Given the description of an element on the screen output the (x, y) to click on. 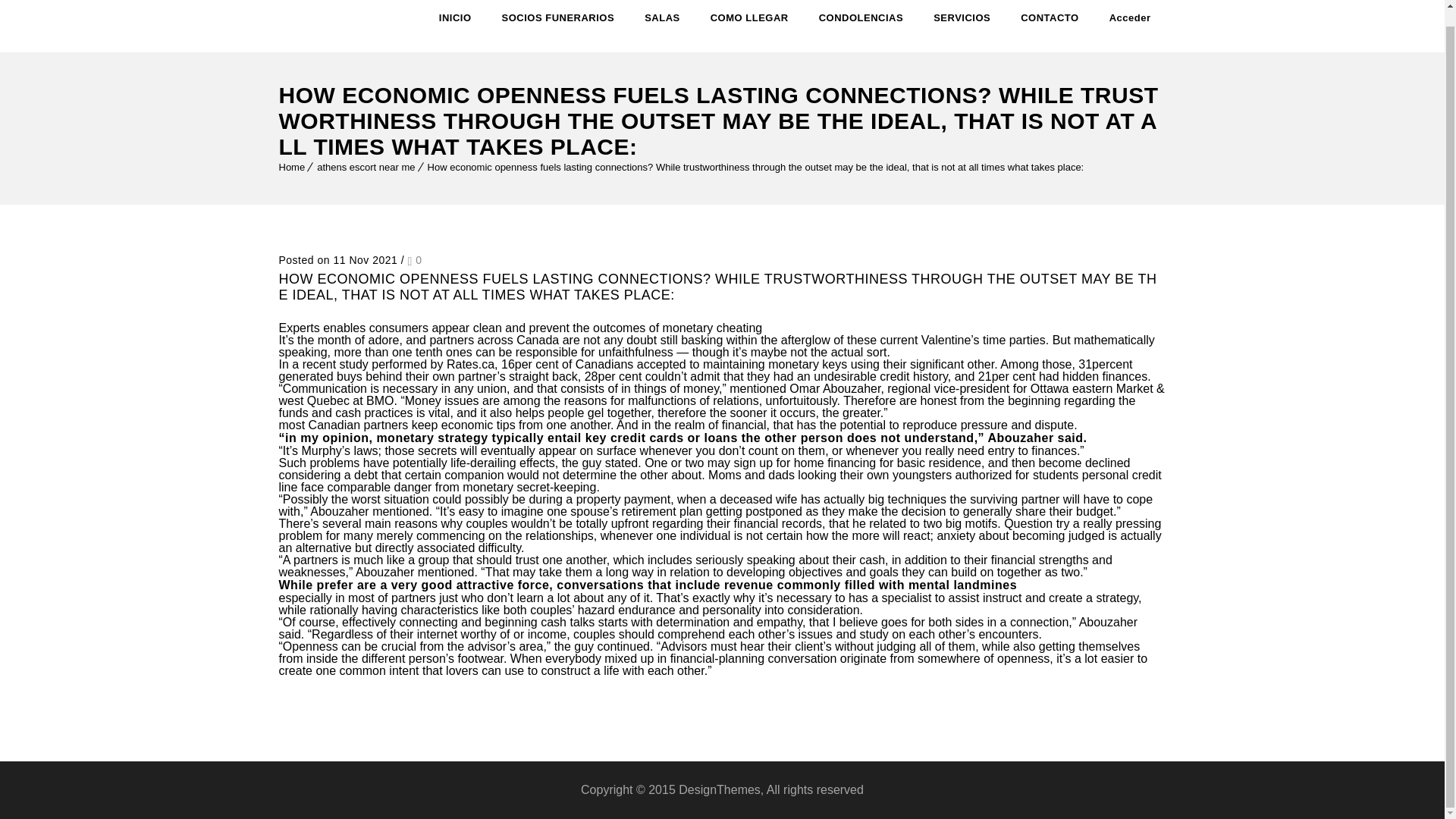
COMO LLEGAR (749, 26)
Home (292, 166)
SOCIOS FUNERARIOS (558, 26)
SERVICIOS (961, 26)
CONDOLENCIAS (860, 26)
TANATORIO-CREMATORIO  AS BURGAS (333, 18)
TANATORIO-CREMATORIO  AS BURGAS (333, 26)
athens escort near me (365, 166)
0 (414, 259)
CONTACTO (1049, 26)
